Given the description of an element on the screen output the (x, y) to click on. 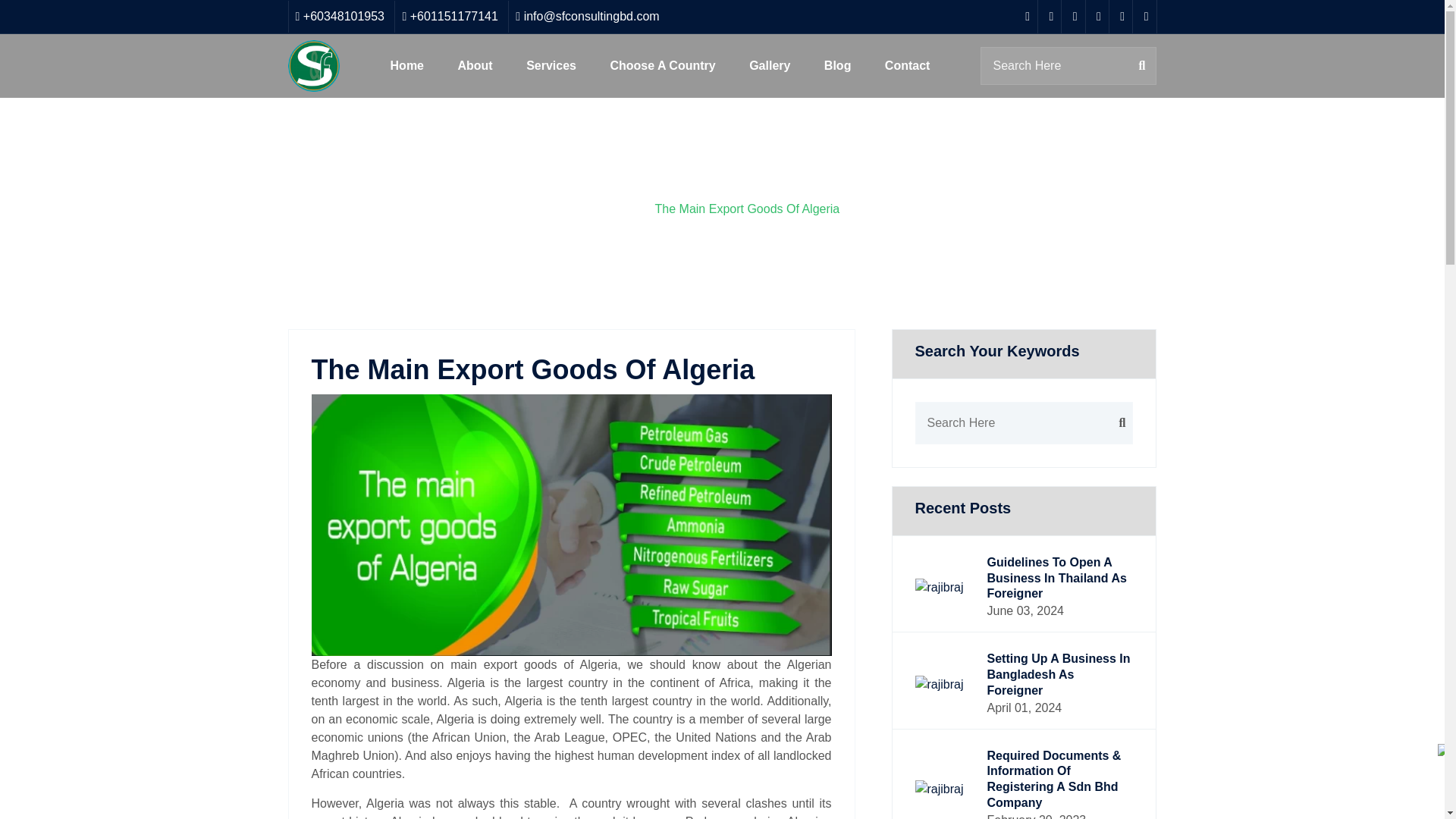
Gallery (769, 65)
Choose A Country (662, 65)
Home (407, 65)
Blog (837, 65)
About (474, 65)
Services (551, 65)
Contact (906, 65)
